Given the description of an element on the screen output the (x, y) to click on. 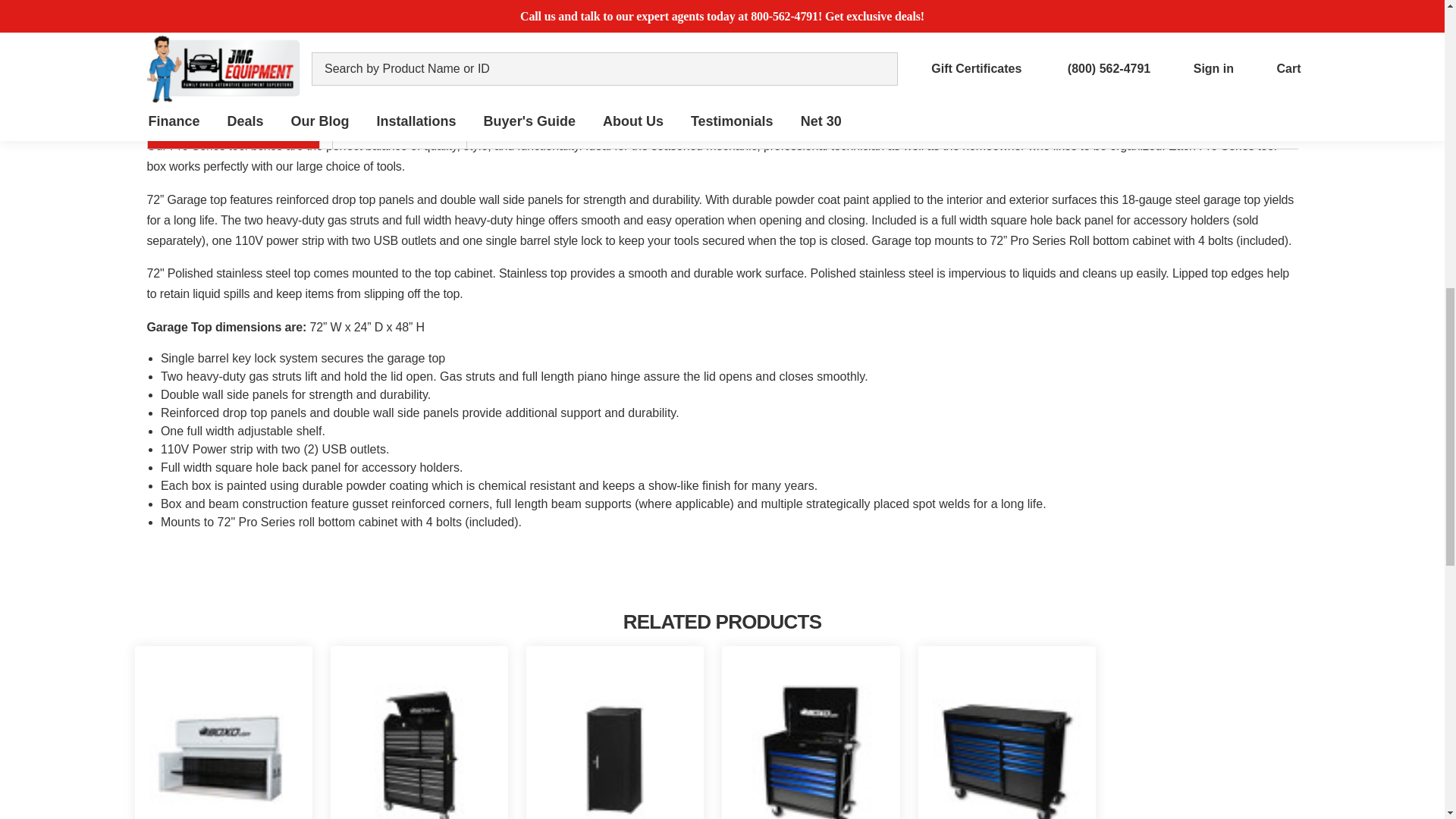
Twitter (960, 2)
Linkedin (986, 2)
Print (931, 2)
Facebook (876, 2)
Email (904, 2)
